Given the description of an element on the screen output the (x, y) to click on. 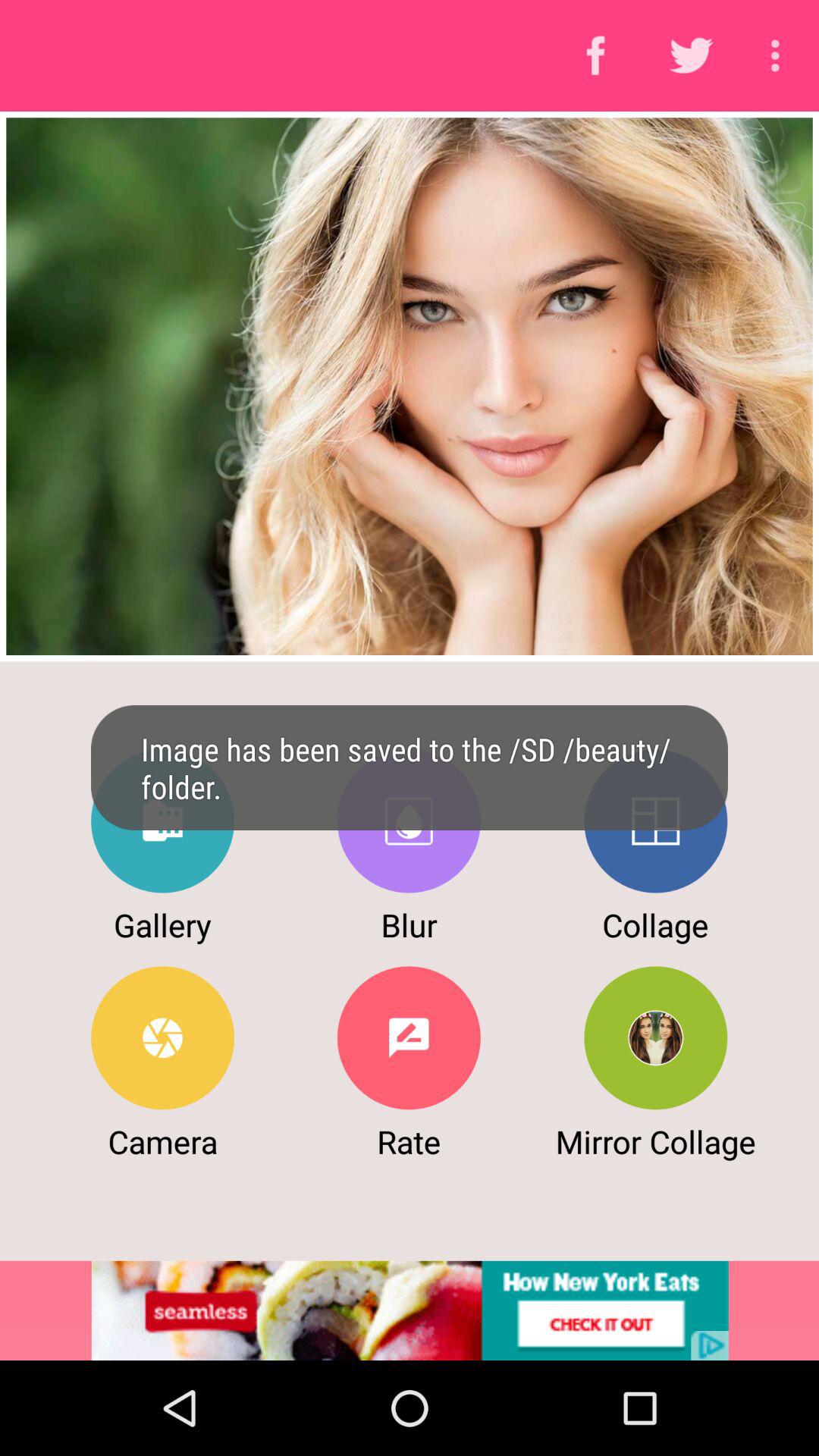
camera option (162, 1037)
